Given the description of an element on the screen output the (x, y) to click on. 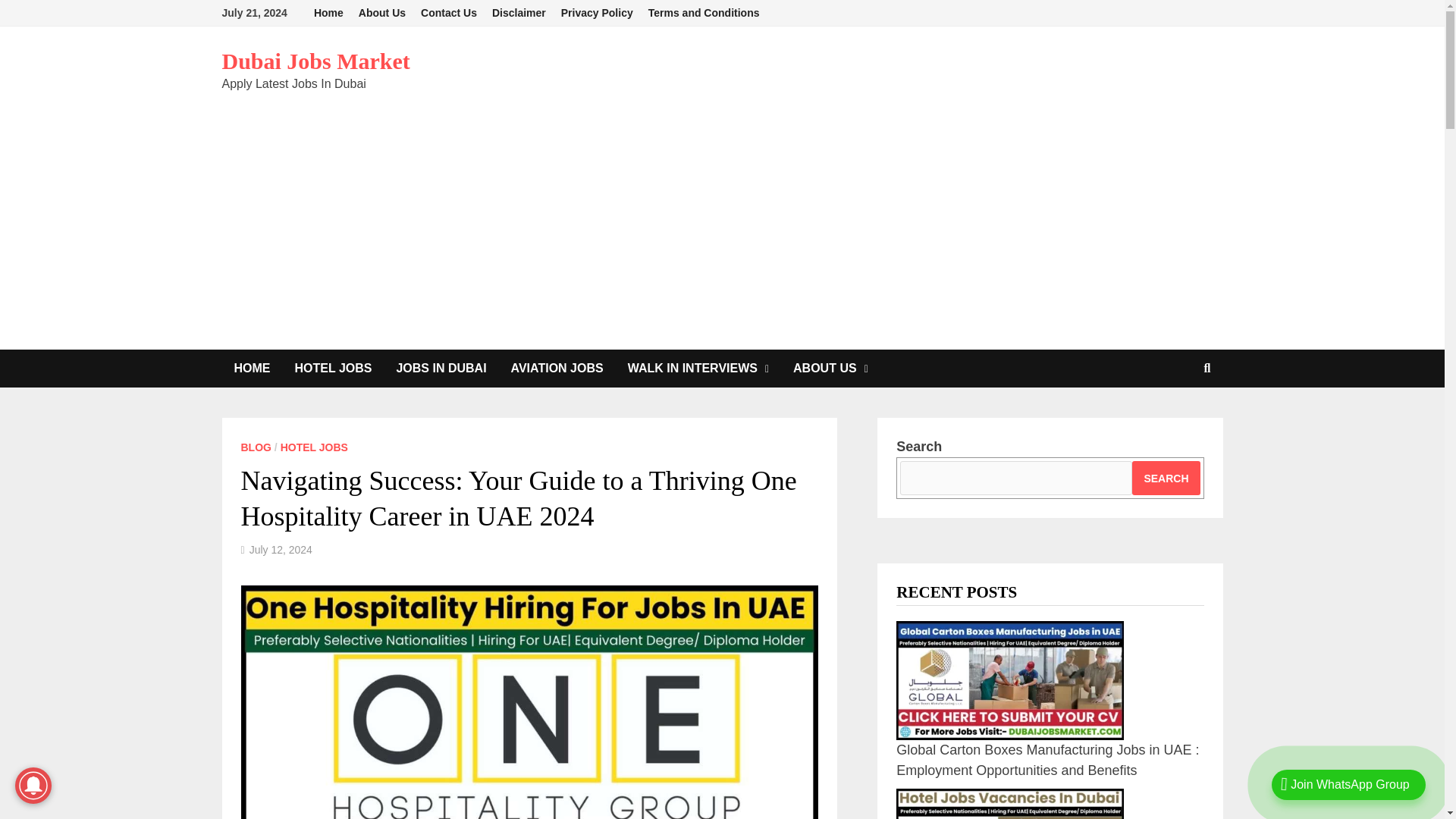
WALK IN INTERVIEWS (697, 368)
Home (327, 13)
Dubai Jobs Market (315, 60)
HOTEL JOBS (333, 368)
AVIATION JOBS (557, 368)
HOME (251, 368)
Contact Us (448, 13)
About Us (381, 13)
ABOUT US (830, 368)
Privacy Policy (596, 13)
Terms and Conditions (703, 13)
JOBS IN DUBAI (440, 368)
Disclaimer (518, 13)
